Given the description of an element on the screen output the (x, y) to click on. 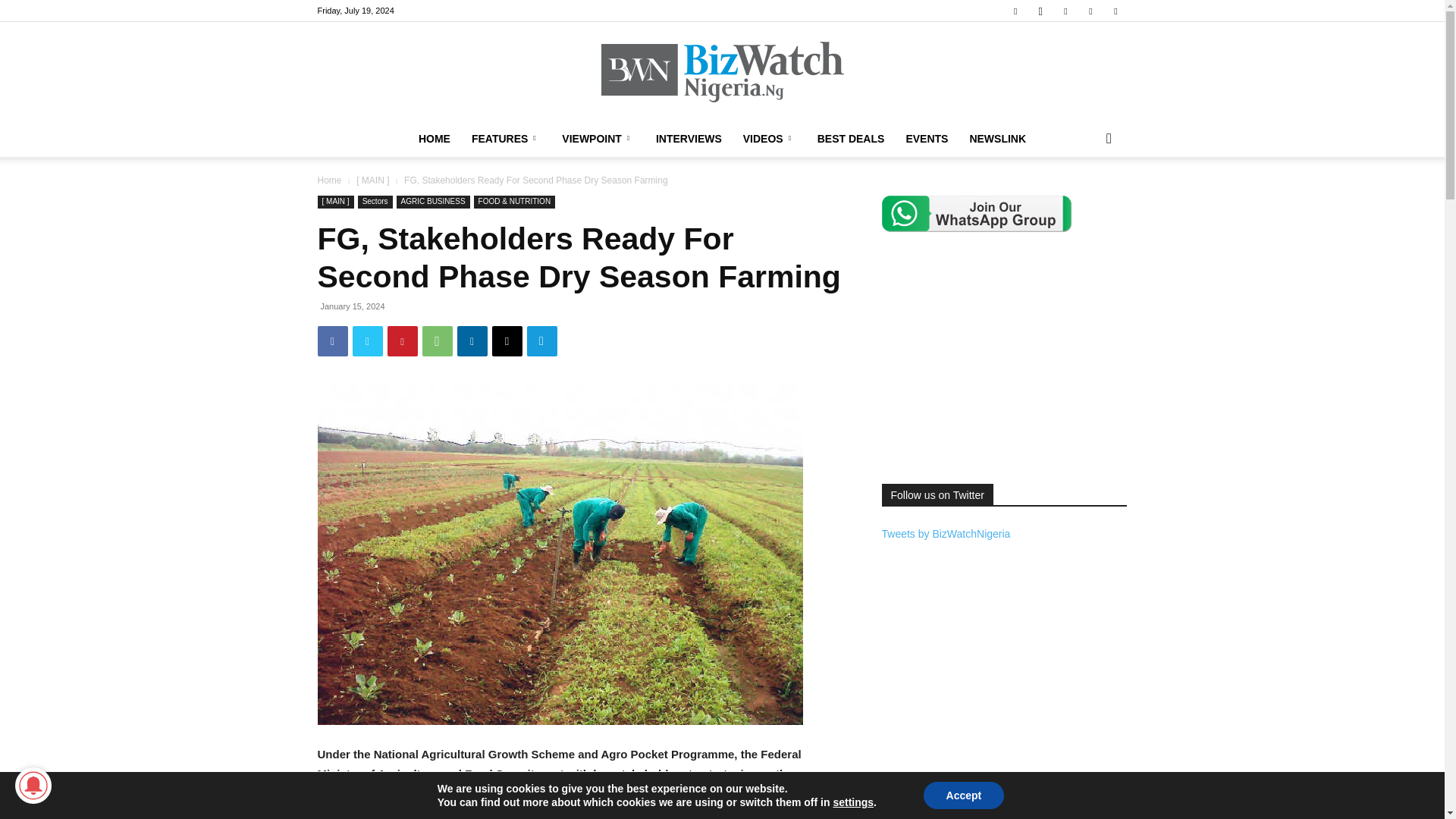
FEATURES (506, 138)
Facebook (1015, 10)
Instagram (1040, 10)
HOME (434, 138)
Linkedin (1065, 10)
Twitter (1090, 10)
Youtube (1114, 10)
